Given the description of an element on the screen output the (x, y) to click on. 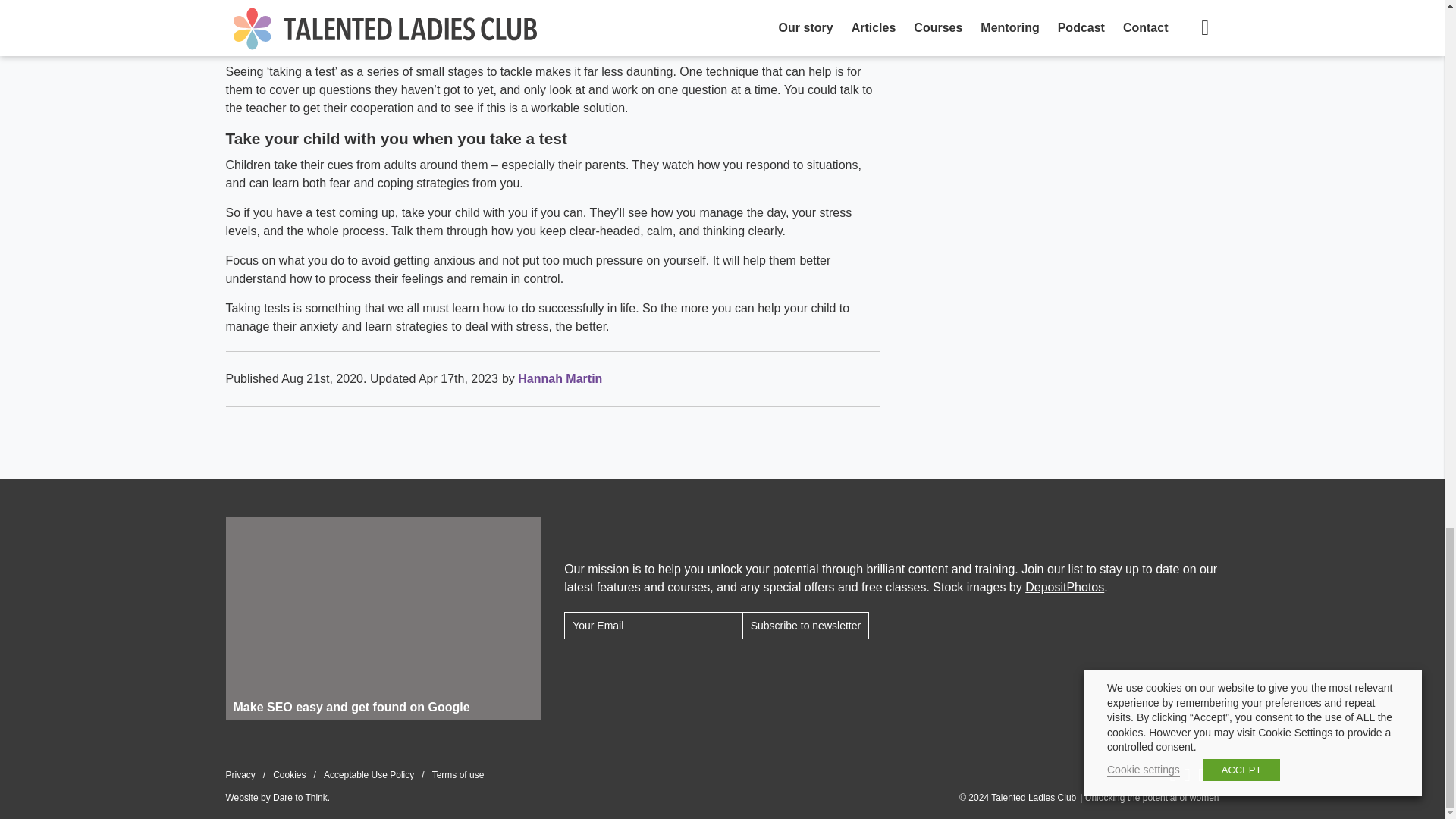
Subscribe to newsletter (805, 625)
Website design and development services from Dare to Think (300, 797)
Talented Ladies Club (1088, 797)
